Given the description of an element on the screen output the (x, y) to click on. 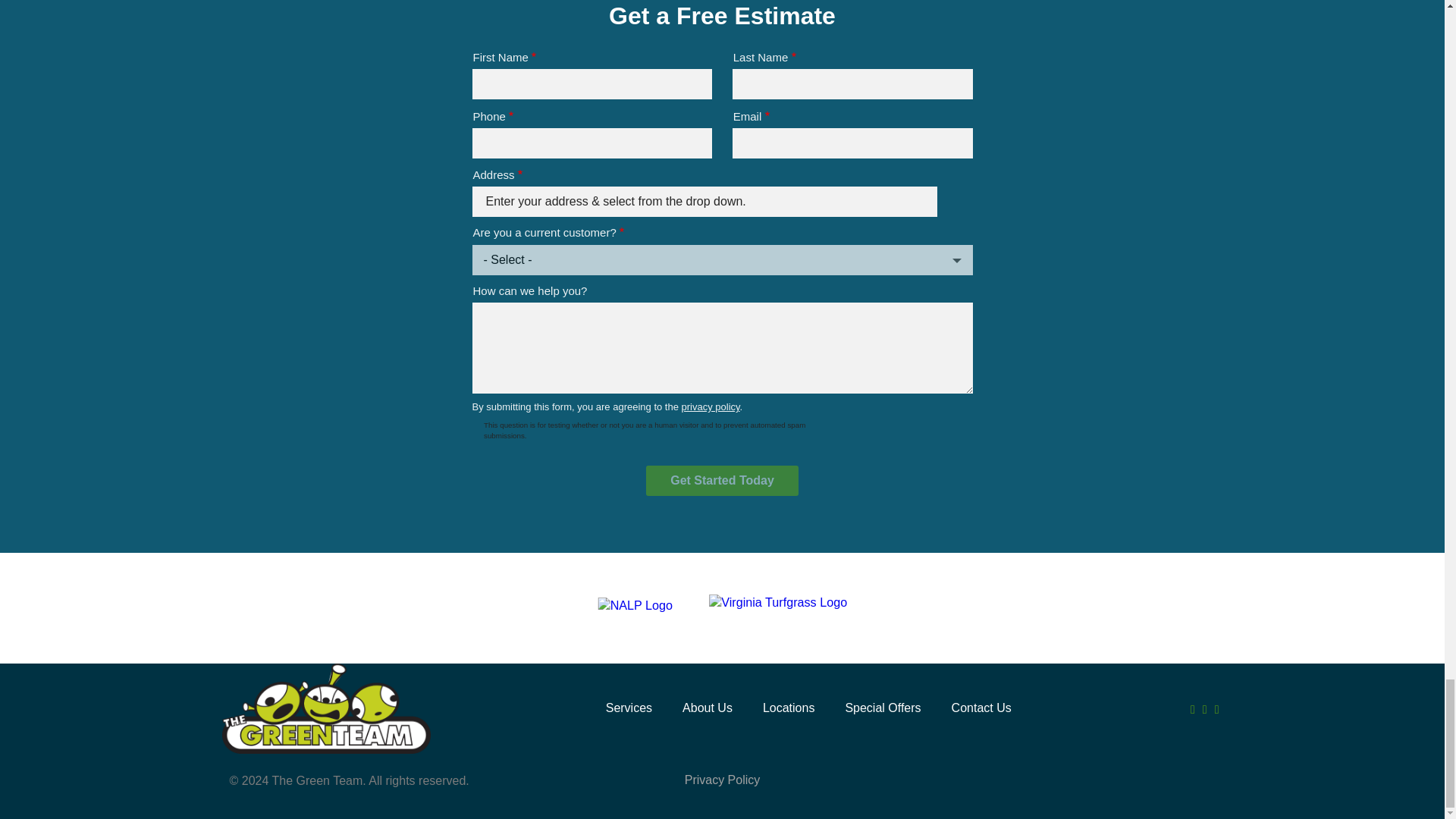
Get Started Today (721, 481)
